Given the description of an element on the screen output the (x, y) to click on. 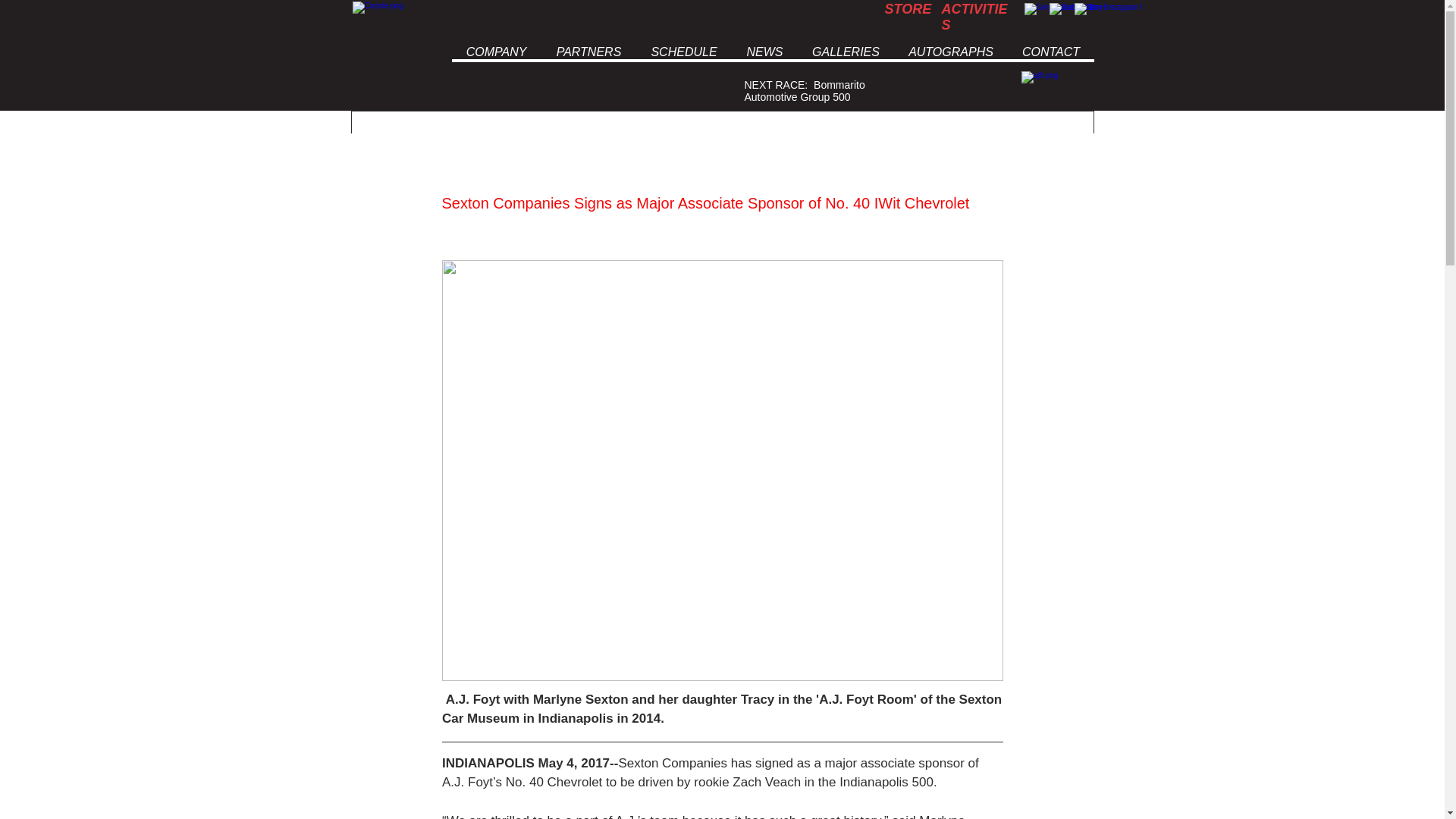
SCHEDULE (682, 51)
PARTNERS (588, 51)
ACTIVITIES (974, 16)
COMPANY (496, 51)
AUTOGRAPHS (950, 51)
GALLERIES (845, 51)
CONTACT (1050, 51)
NEWS (763, 51)
STORE (907, 8)
